Given the description of an element on the screen output the (x, y) to click on. 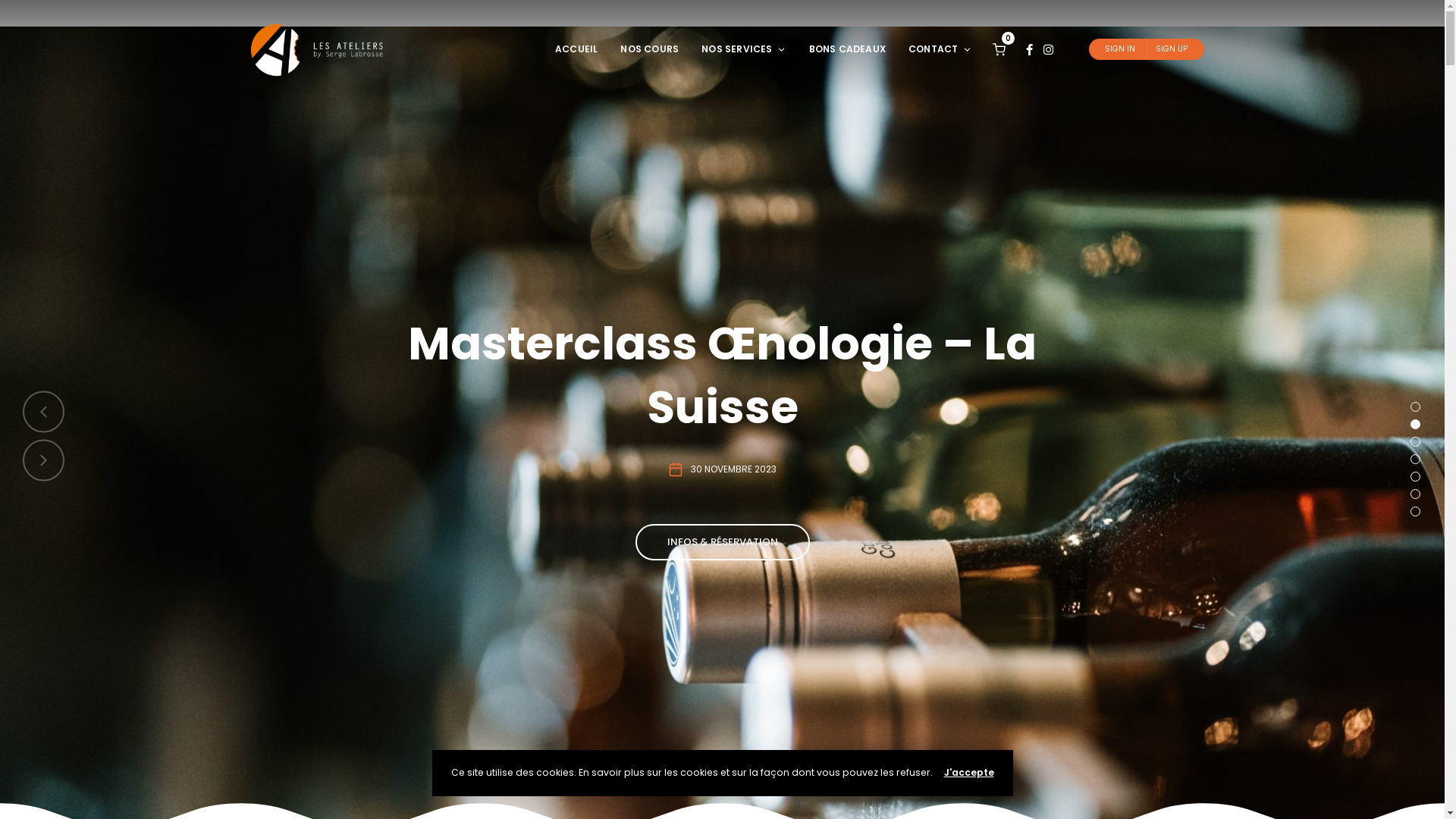
BONS CADEAUX Element type: text (847, 49)
SIGN IN Element type: text (1119, 48)
NOS COURS Element type: text (649, 49)
SIGN UP Element type: text (1171, 48)
NOS SERVICES Element type: text (743, 49)
0 Element type: text (997, 48)
CONTACT Element type: text (939, 49)
ACCUEIL Element type: text (575, 49)
J'accepte Element type: text (968, 771)
